Given the description of an element on the screen output the (x, y) to click on. 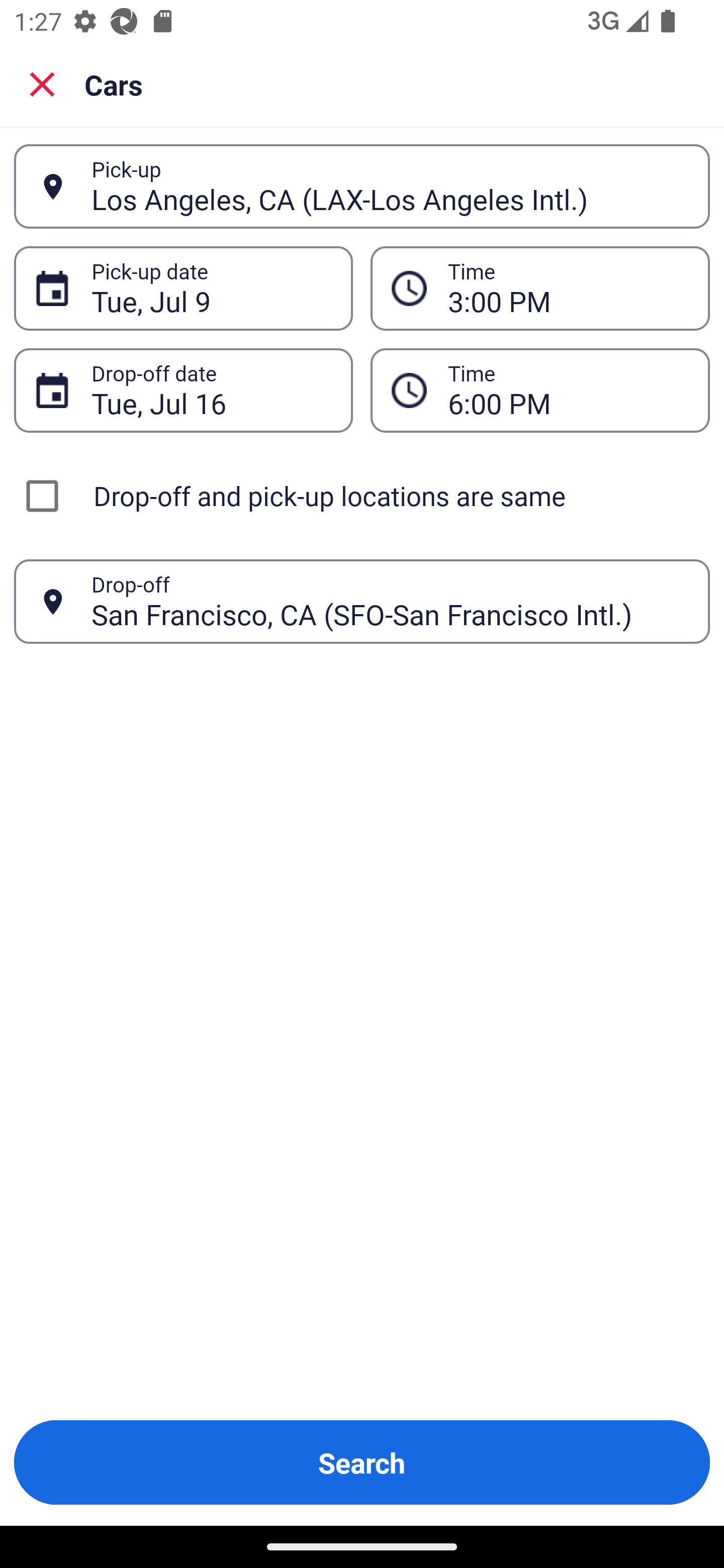
Close search screen (42, 84)
Los Angeles, CA (LAX-Los Angeles Intl.) (389, 186)
Tue, Jul 9 (211, 288)
3:00 PM (568, 288)
Tue, Jul 16 (211, 390)
6:00 PM (568, 390)
Drop-off and pick-up locations are same (361, 495)
San Francisco, CA (SFO-San Francisco Intl.) (389, 601)
Search Button Search (361, 1462)
